Given the description of an element on the screen output the (x, y) to click on. 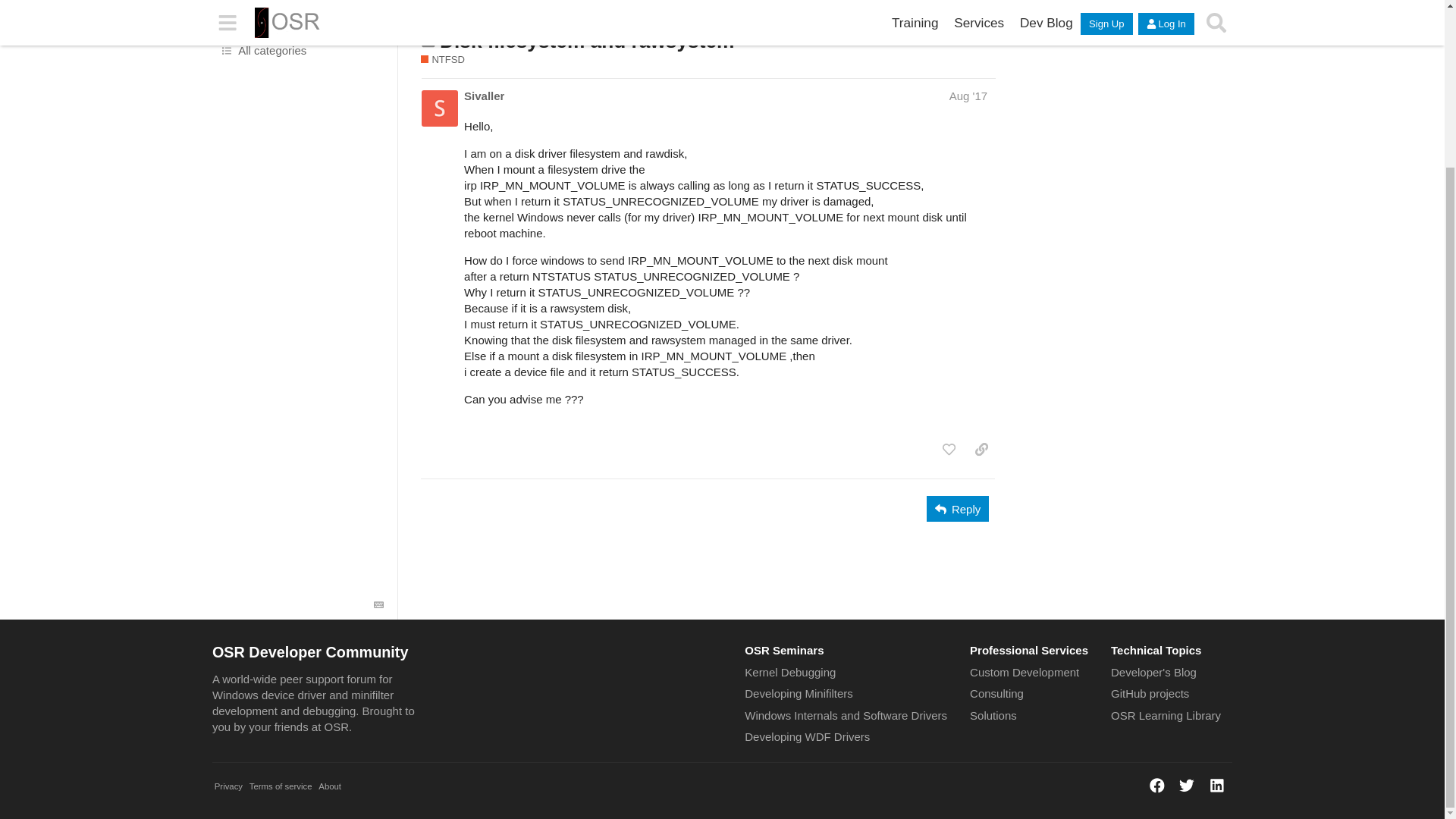
Keyboard Shortcuts (378, 605)
Reply (957, 508)
Consulting (996, 693)
Sivaller (483, 95)
Windows Internals and Software Drivers (845, 715)
Developer's Blog (1153, 671)
Post date (968, 95)
NTFSD (442, 59)
Solutions (992, 715)
Developing Minifilters (798, 693)
WINDBG (301, 26)
FAQ - OSR Developer Community (850, 2)
All categories (301, 50)
GitHub projects (1149, 693)
Custom Development (1023, 671)
